Given the description of an element on the screen output the (x, y) to click on. 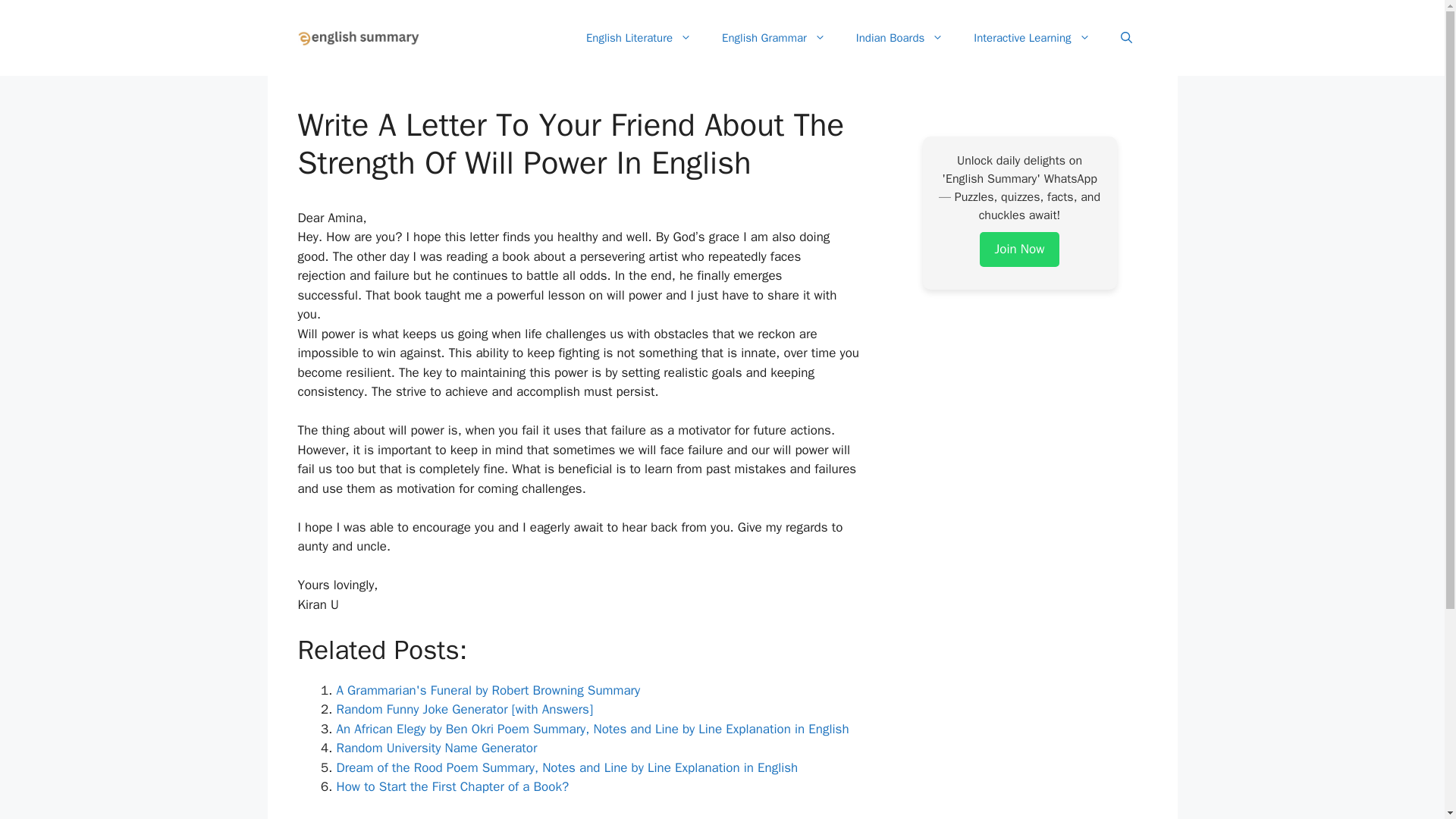
English Literature (638, 37)
Interactive Learning (1031, 37)
Indian Boards (899, 37)
English Grammar (773, 37)
